Given the description of an element on the screen output the (x, y) to click on. 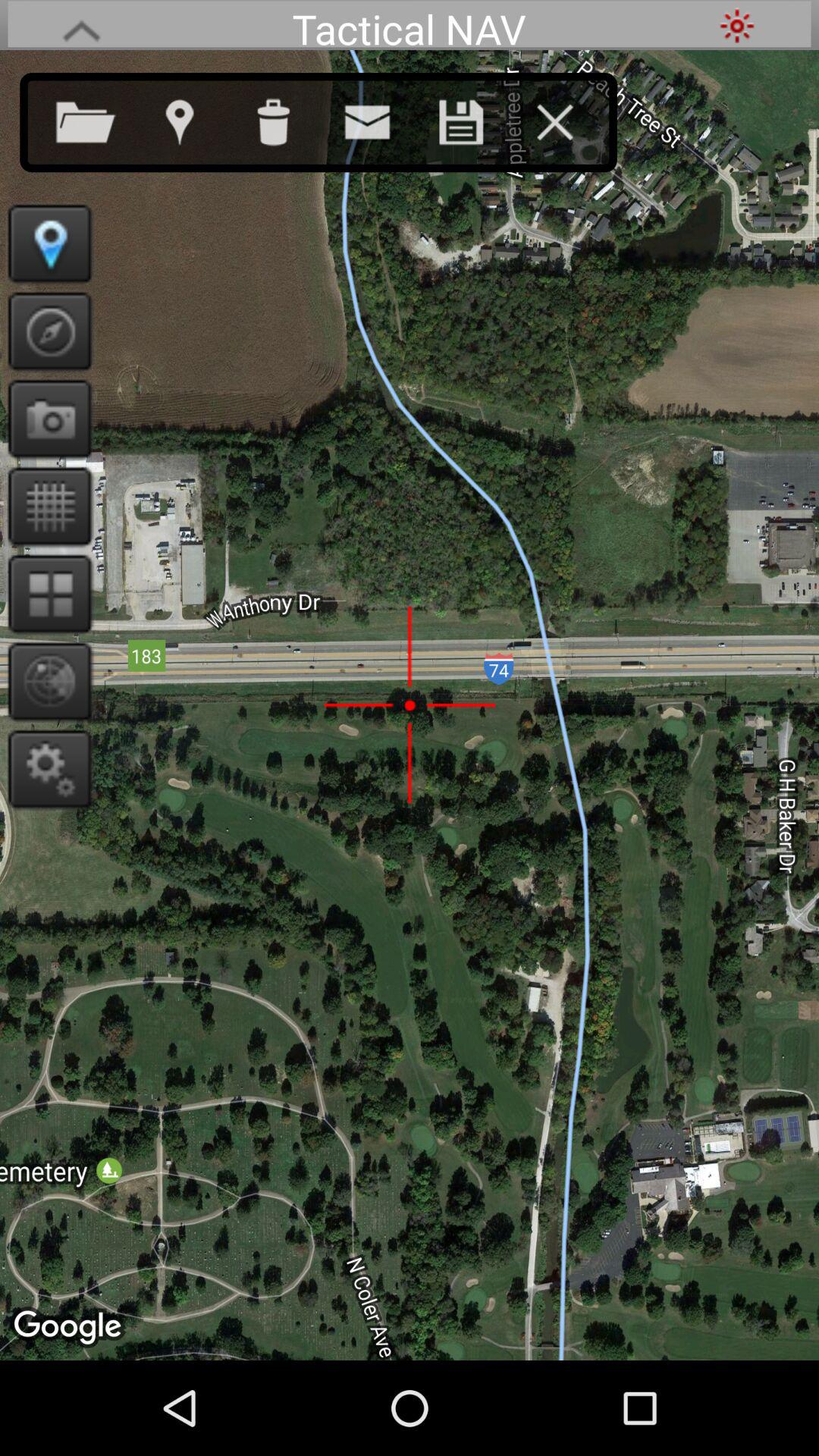
tap the item below the tactical nav app (476, 119)
